Given the description of an element on the screen output the (x, y) to click on. 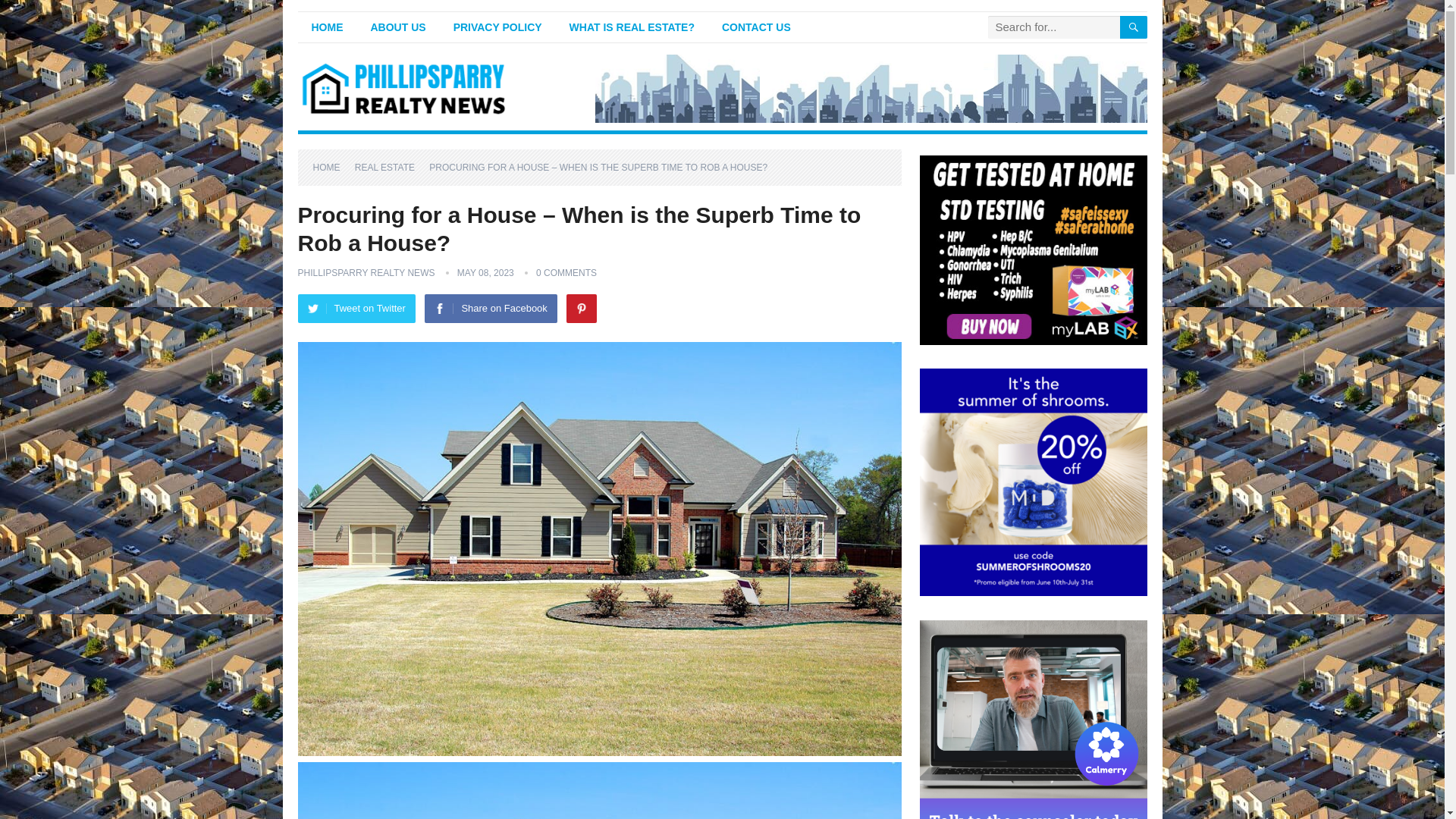
CONTACT US (756, 27)
PHILLIPSPARRY REALTY NEWS (365, 272)
ABOUT US (397, 27)
HOME (331, 167)
PRIVACY POLICY (497, 27)
REAL ESTATE (390, 167)
Tweet on Twitter (355, 308)
Share on Facebook (490, 308)
View all posts in Real Estate (390, 167)
Pinterest (581, 308)
HOME (326, 27)
0 COMMENTS (565, 272)
Posts by PhillipsParry Realty News (365, 272)
WHAT IS REAL ESTATE? (631, 27)
